Given the description of an element on the screen output the (x, y) to click on. 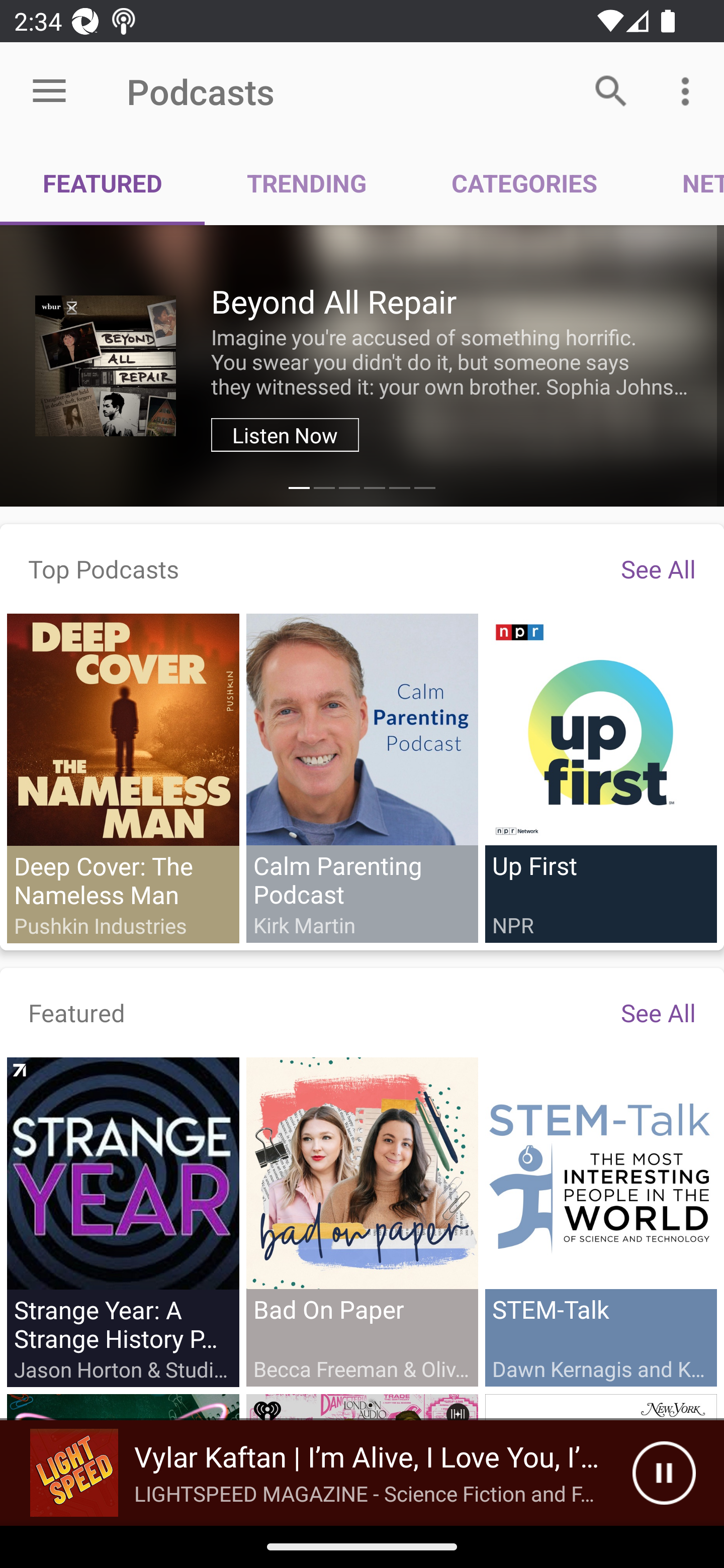
Open menu (49, 91)
Search (611, 90)
More options (688, 90)
FEATURED (102, 183)
TRENDING (306, 183)
CATEGORIES (524, 183)
Top Podcasts (103, 567)
See All (658, 567)
Deep Cover: The Nameless Man Pushkin Industries (123, 778)
Calm Parenting Podcast Kirk Martin (361, 777)
Up First NPR (600, 777)
Featured (76, 1011)
See All (658, 1011)
Bad On Paper Becca Freeman & Olivia Muenter (361, 1221)
STEM-Talk Dawn Kernagis and Ken Ford (600, 1221)
Pause (663, 1472)
